Given the description of an element on the screen output the (x, y) to click on. 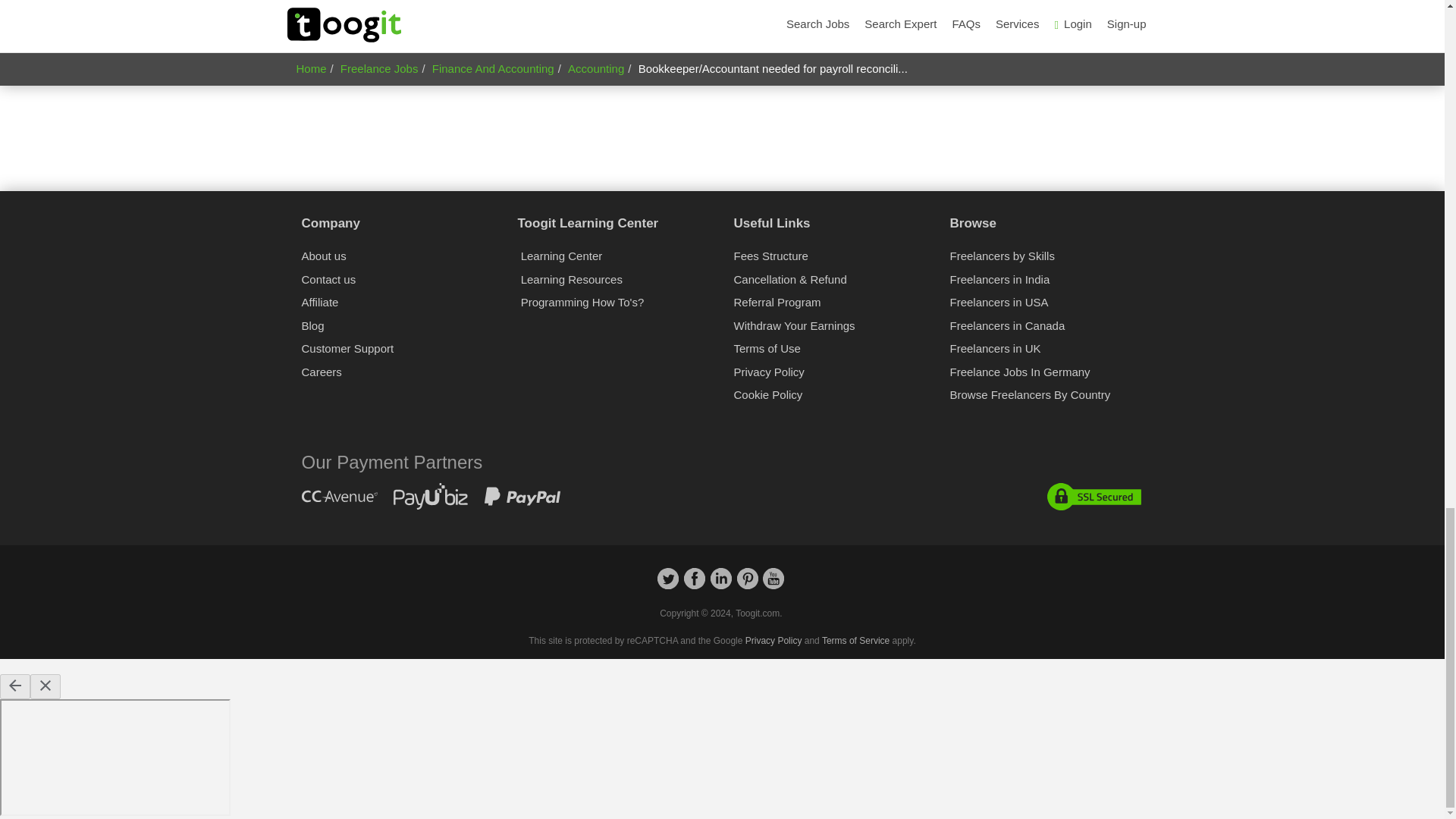
Connect Toogit Netwrok On LinkedIn (721, 585)
Pin Toogit On Pinterest (747, 585)
About us (323, 255)
Customer Support (347, 348)
Blog (312, 325)
Affiliate (320, 301)
Contact us (328, 278)
Subscribe Our Channel On YouTube (773, 585)
Join Toogit On Facebook (694, 585)
Follow Toogit On Twitter (668, 585)
